Given the description of an element on the screen output the (x, y) to click on. 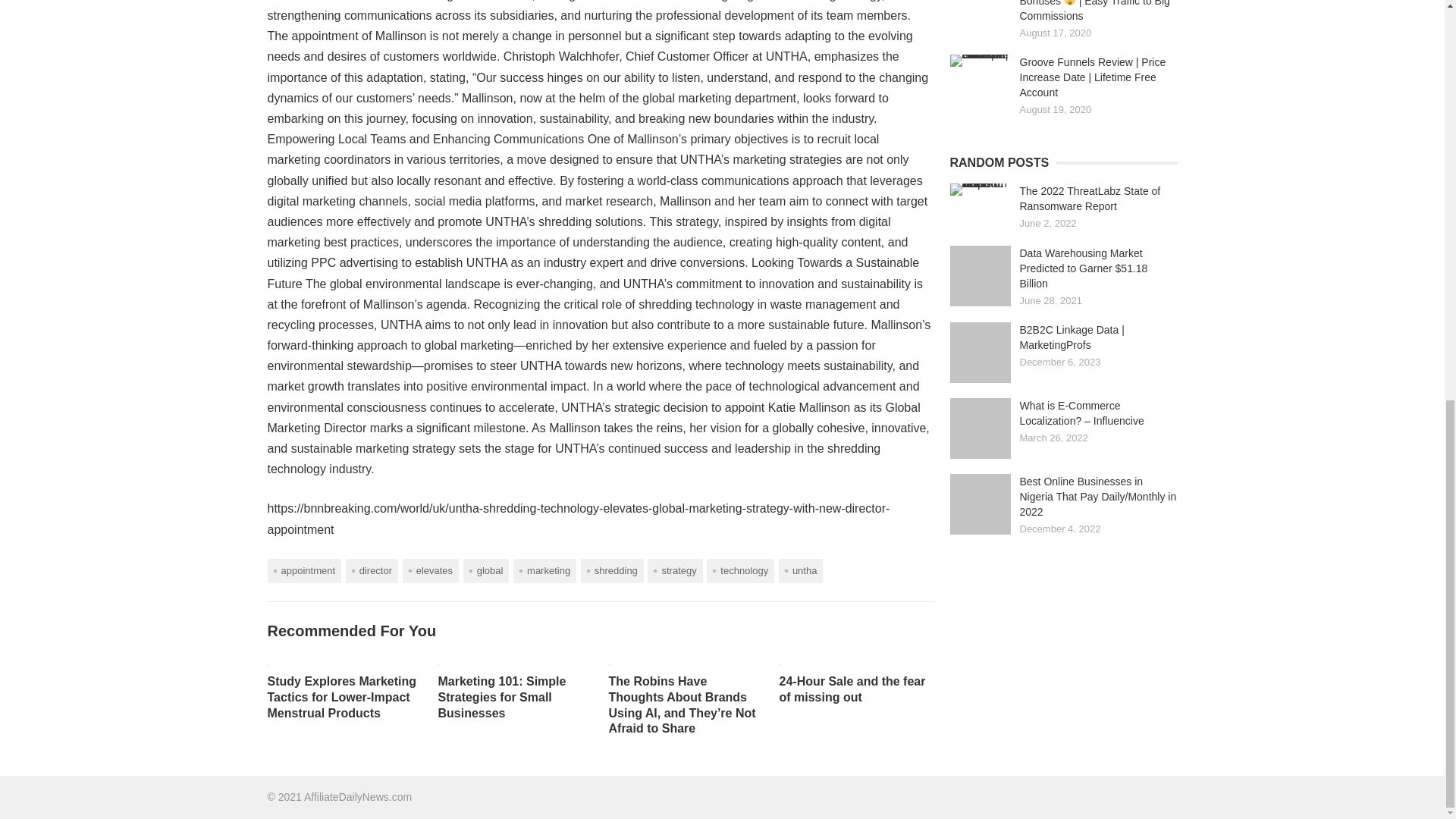
elevates (430, 570)
appointment (303, 570)
global (486, 570)
director (371, 570)
